Given the description of an element on the screen output the (x, y) to click on. 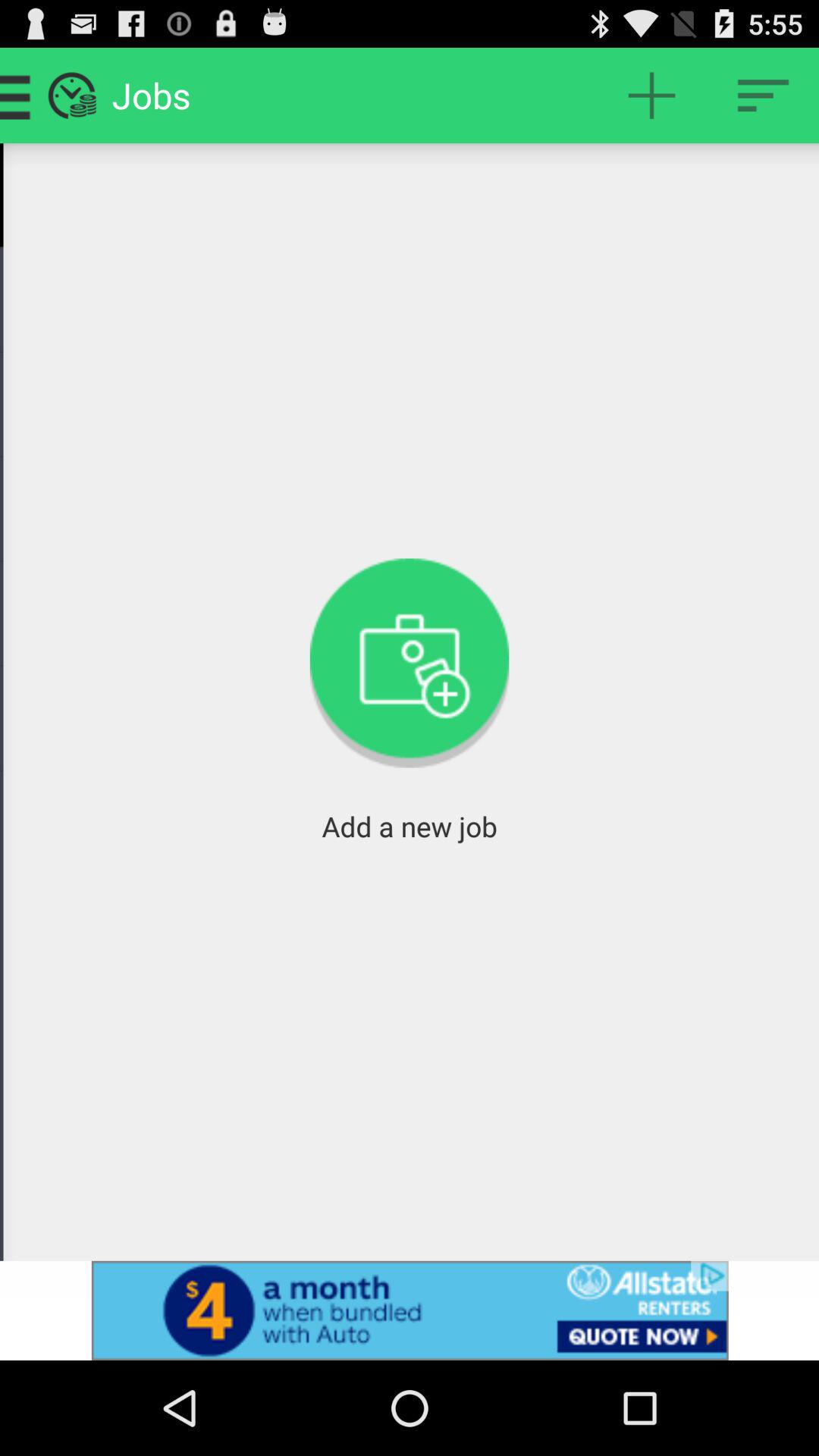
advertisement (409, 1310)
